Given the description of an element on the screen output the (x, y) to click on. 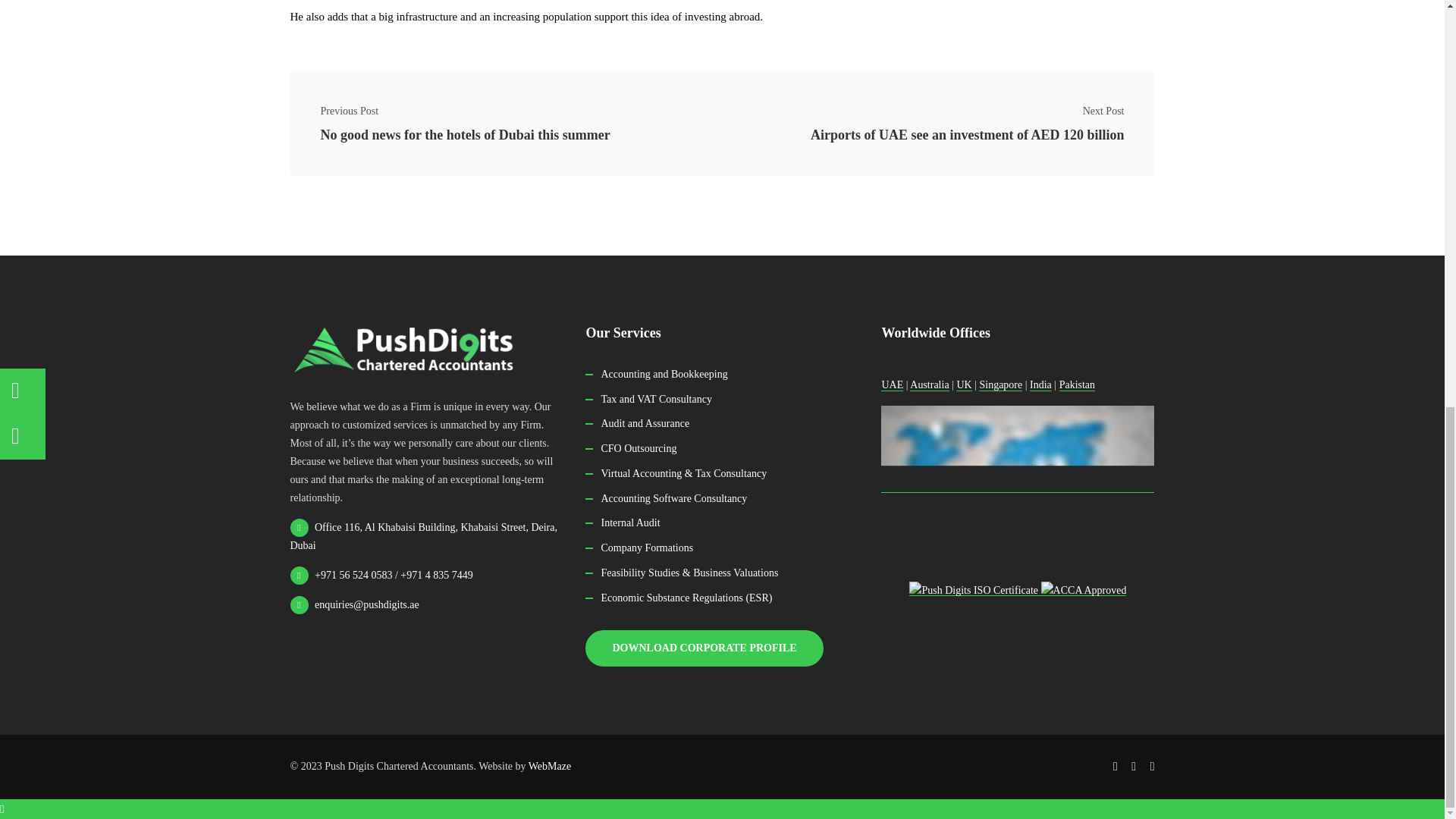
Best Web Design Agency Dubai UAE (549, 766)
